Given the description of an element on the screen output the (x, y) to click on. 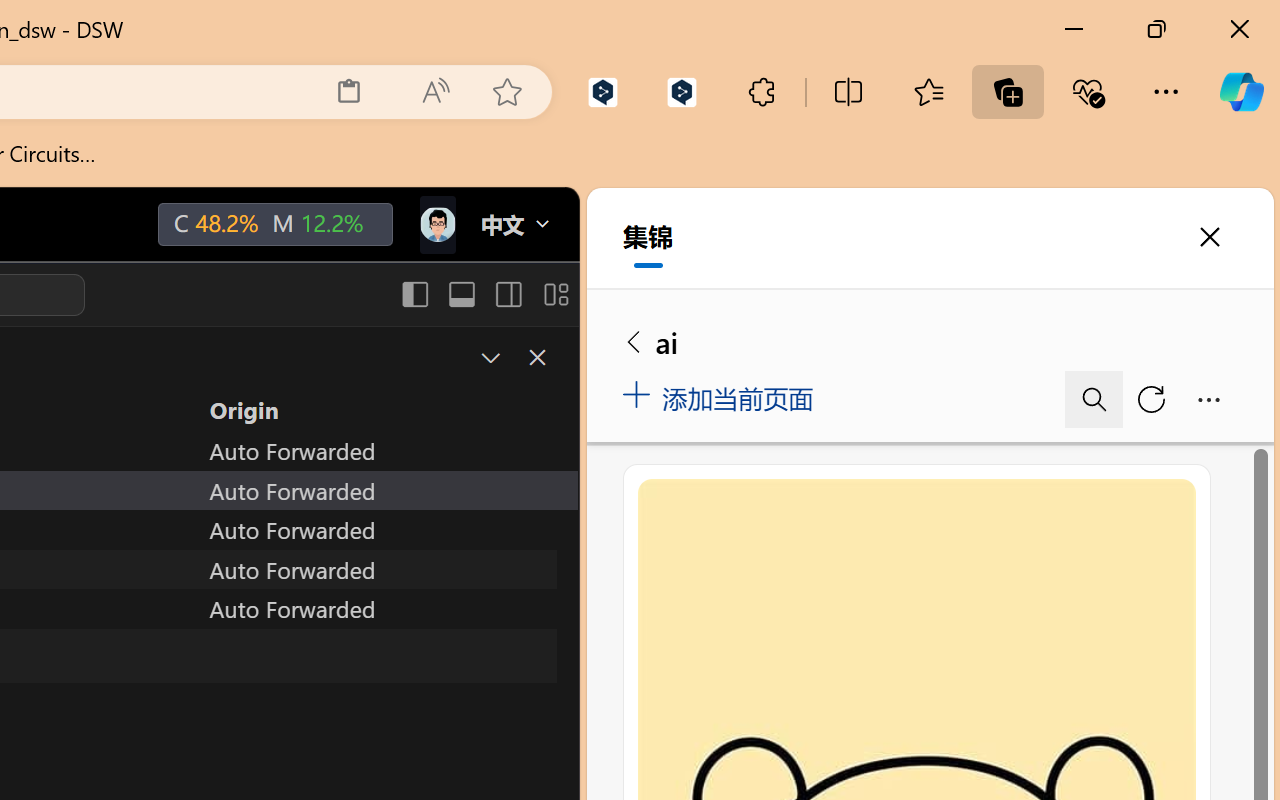
Toggle Primary Side Bar (Ctrl+B) (413, 294)
Copilot (Ctrl+Shift+.) (1241, 91)
Close Panel (535, 357)
Class: next-menu next-hoz widgets--iconMenu--BFkiHRM (436, 225)
Title actions (484, 294)
